Given the description of an element on the screen output the (x, y) to click on. 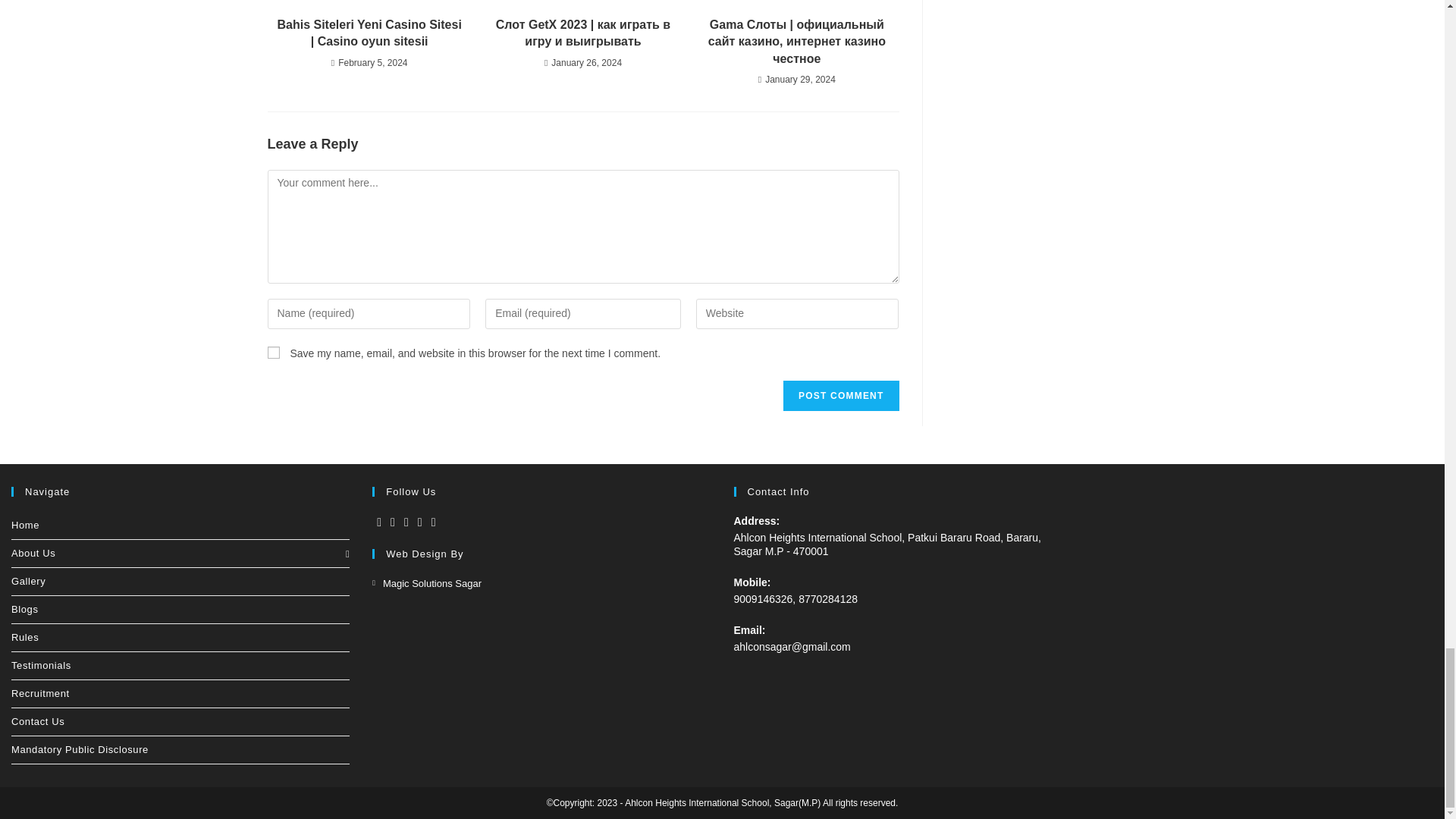
Post Comment (840, 395)
yes (272, 352)
